Given the description of an element on the screen output the (x, y) to click on. 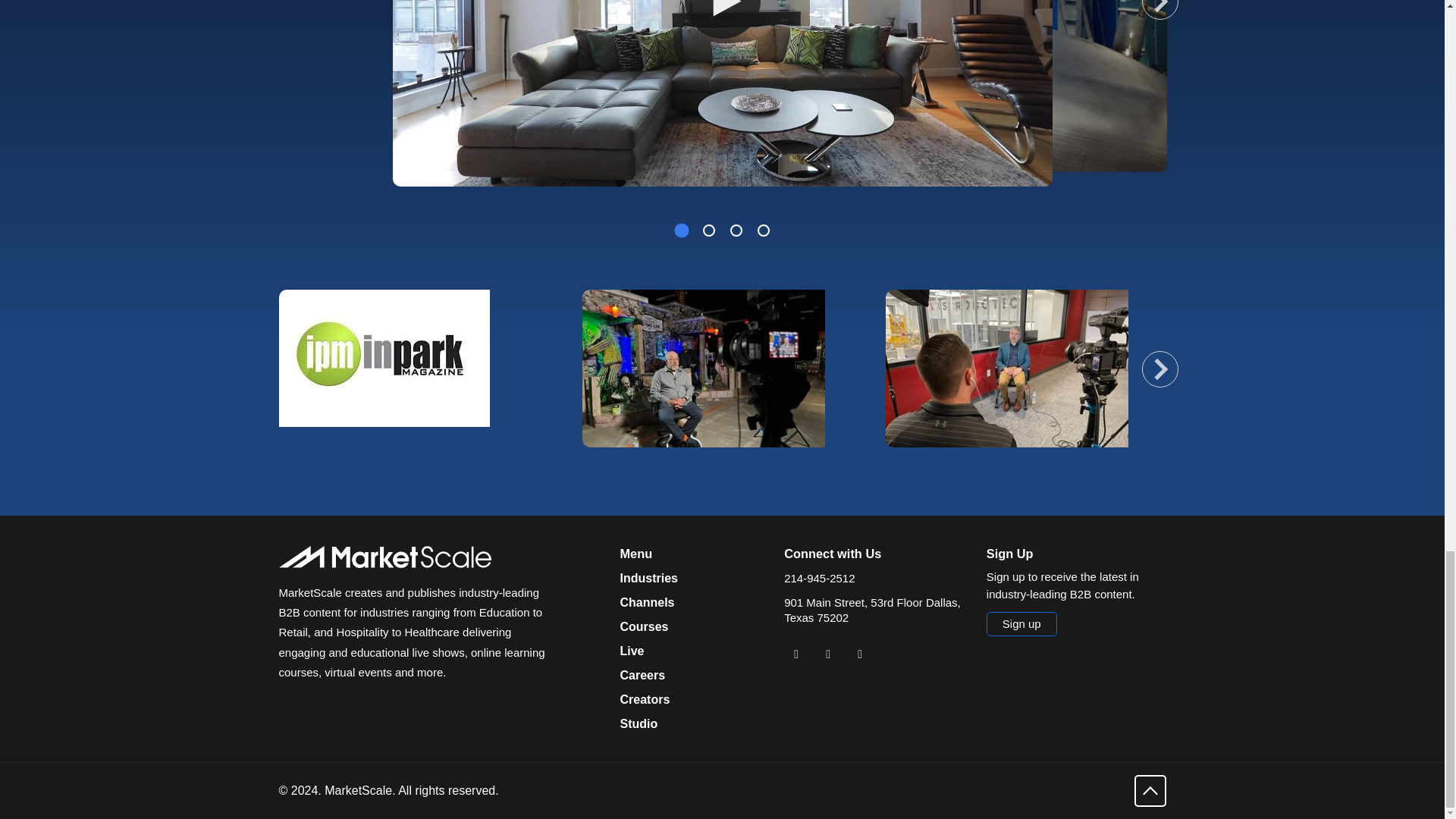
Share on X (827, 654)
Share on Instagram (859, 654)
Share on Linkedin (796, 654)
